Given the description of an element on the screen output the (x, y) to click on. 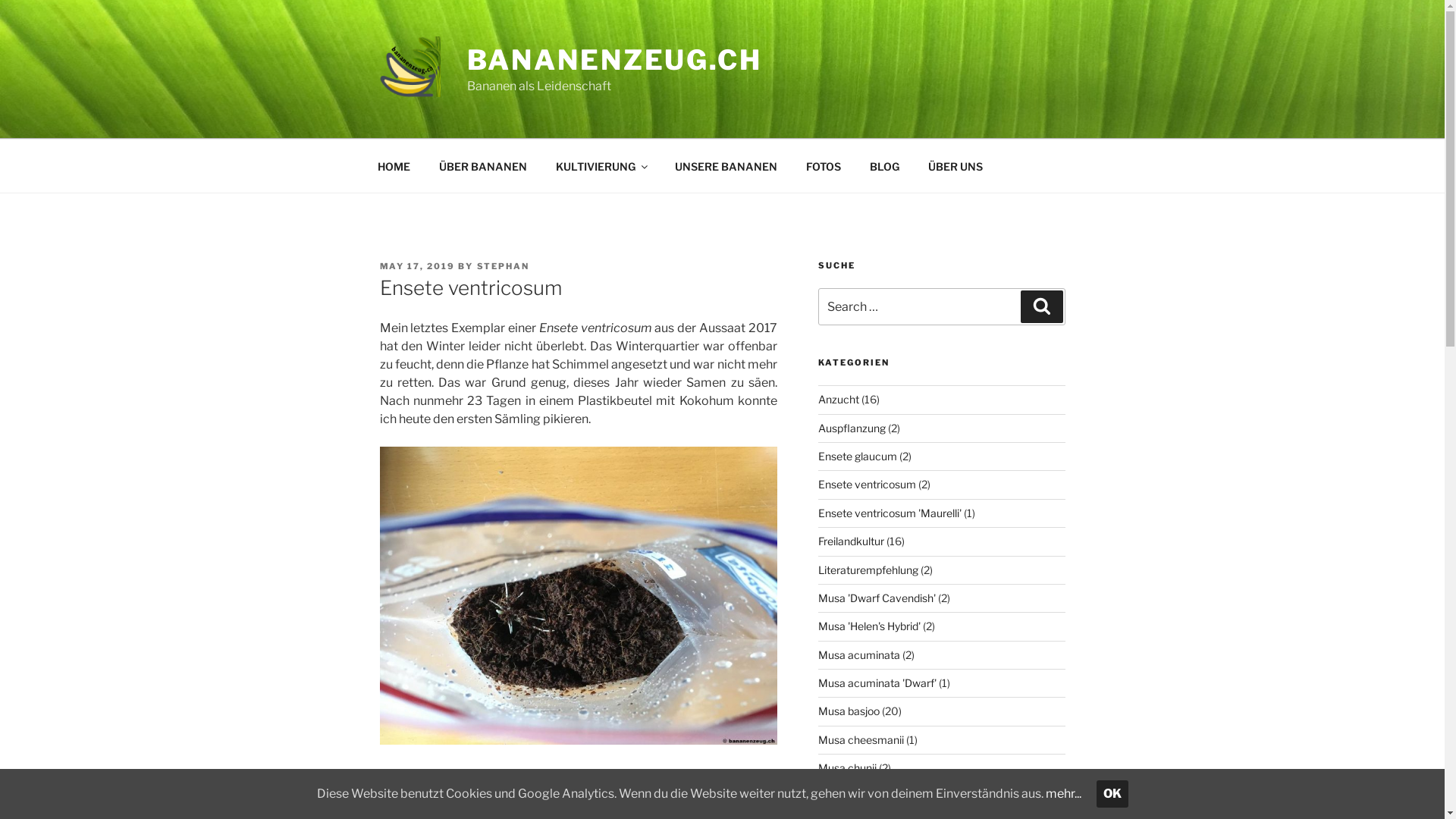
UNSERE BANANEN Element type: text (725, 165)
KULTIVIERUNG Element type: text (600, 165)
Musa cheesmanii Element type: text (860, 739)
Search Element type: text (1041, 306)
Musa 'Dwarf Cavendish' Element type: text (876, 597)
Anzucht Element type: text (838, 398)
STEPHAN Element type: text (502, 265)
Freilandkultur Element type: text (851, 540)
Ensete glaucum Element type: text (857, 455)
Musa 'Helen's Hybrid' Element type: text (869, 625)
BLOG Element type: text (884, 165)
BANANENZEUG.CH Element type: text (614, 59)
Musa johnsii Element type: text (848, 796)
Ensete ventricosum 'Maurelli' Element type: text (889, 512)
Musa acuminata Element type: text (859, 654)
Skip to content Element type: text (0, 0)
Musa basjoo Element type: text (848, 710)
HOME Element type: text (393, 165)
Musa chunii Element type: text (847, 767)
FOTOS Element type: text (823, 165)
OK Element type: text (1112, 793)
Literaturempfehlung Element type: text (868, 568)
mehr... Element type: text (1062, 793)
Auspflanzung Element type: text (851, 427)
Musa acuminata 'Dwarf' Element type: text (877, 682)
Ensete ventricosum Element type: text (867, 483)
MAY 17, 2019 Element type: text (417, 265)
